Given the description of an element on the screen output the (x, y) to click on. 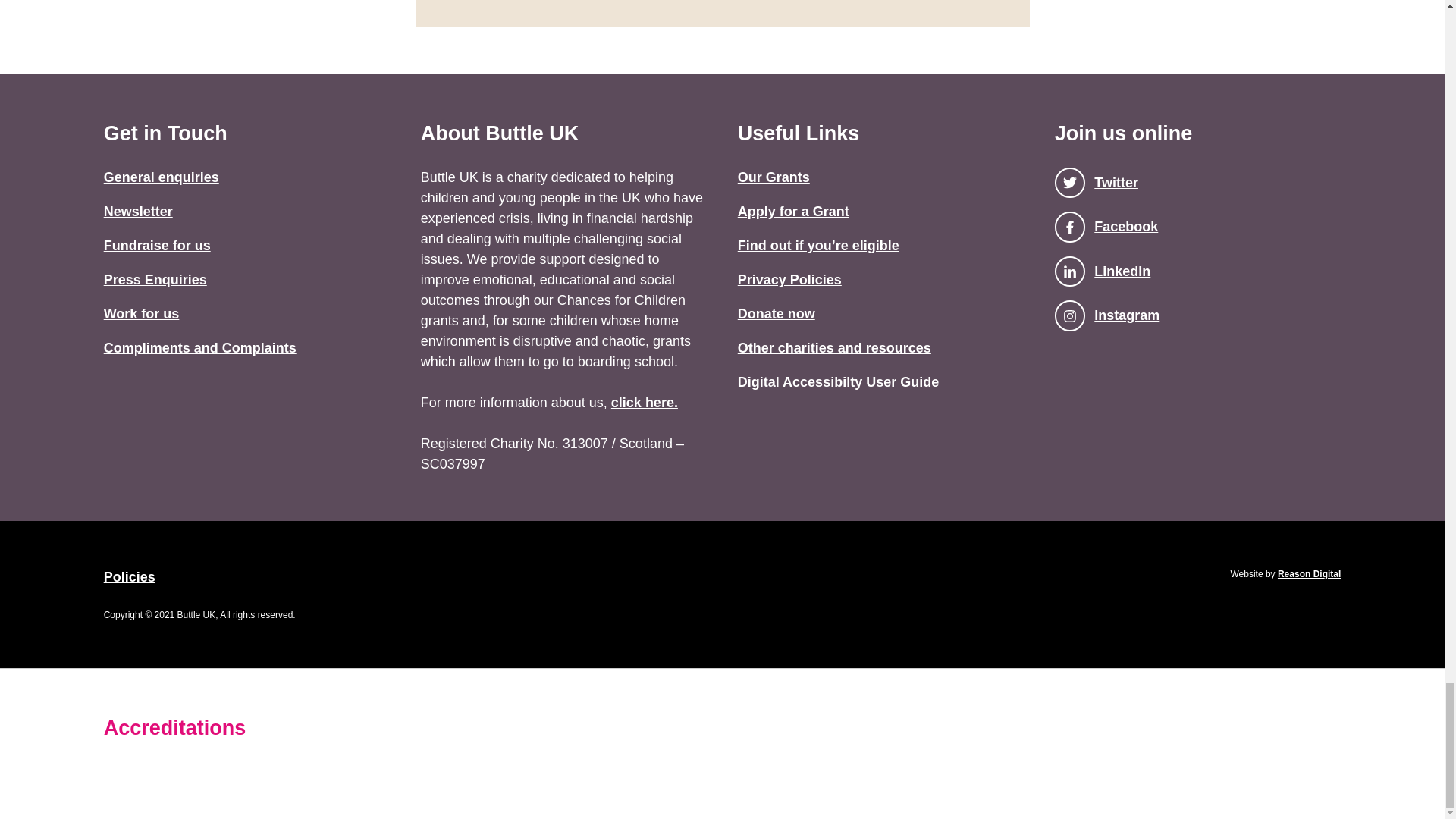
Press Enquiries (154, 279)
Work for us (141, 313)
Newsletter (138, 211)
click here. (644, 402)
Compliments and Complaints (200, 347)
Fundraise for us (157, 245)
General enquiries (161, 177)
